Given the description of an element on the screen output the (x, y) to click on. 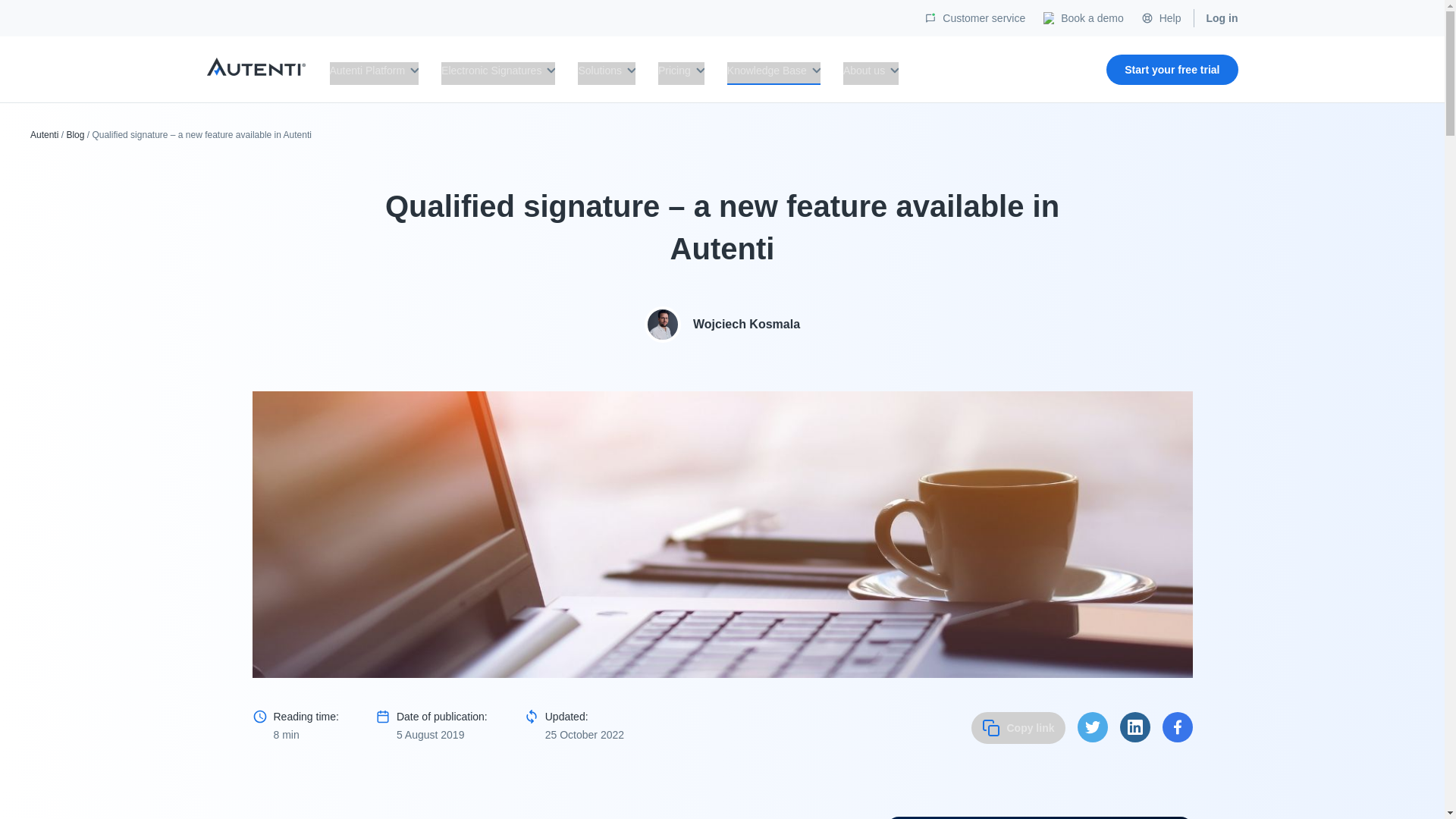
Customer service (983, 17)
Help (1169, 17)
Log in (1221, 17)
Pricing (681, 73)
Autenti Platform (374, 73)
Electronic Signatures (497, 73)
Application logos (255, 66)
Book a demo (1092, 17)
Solutions (606, 73)
Knowledge Base (773, 73)
